Given the description of an element on the screen output the (x, y) to click on. 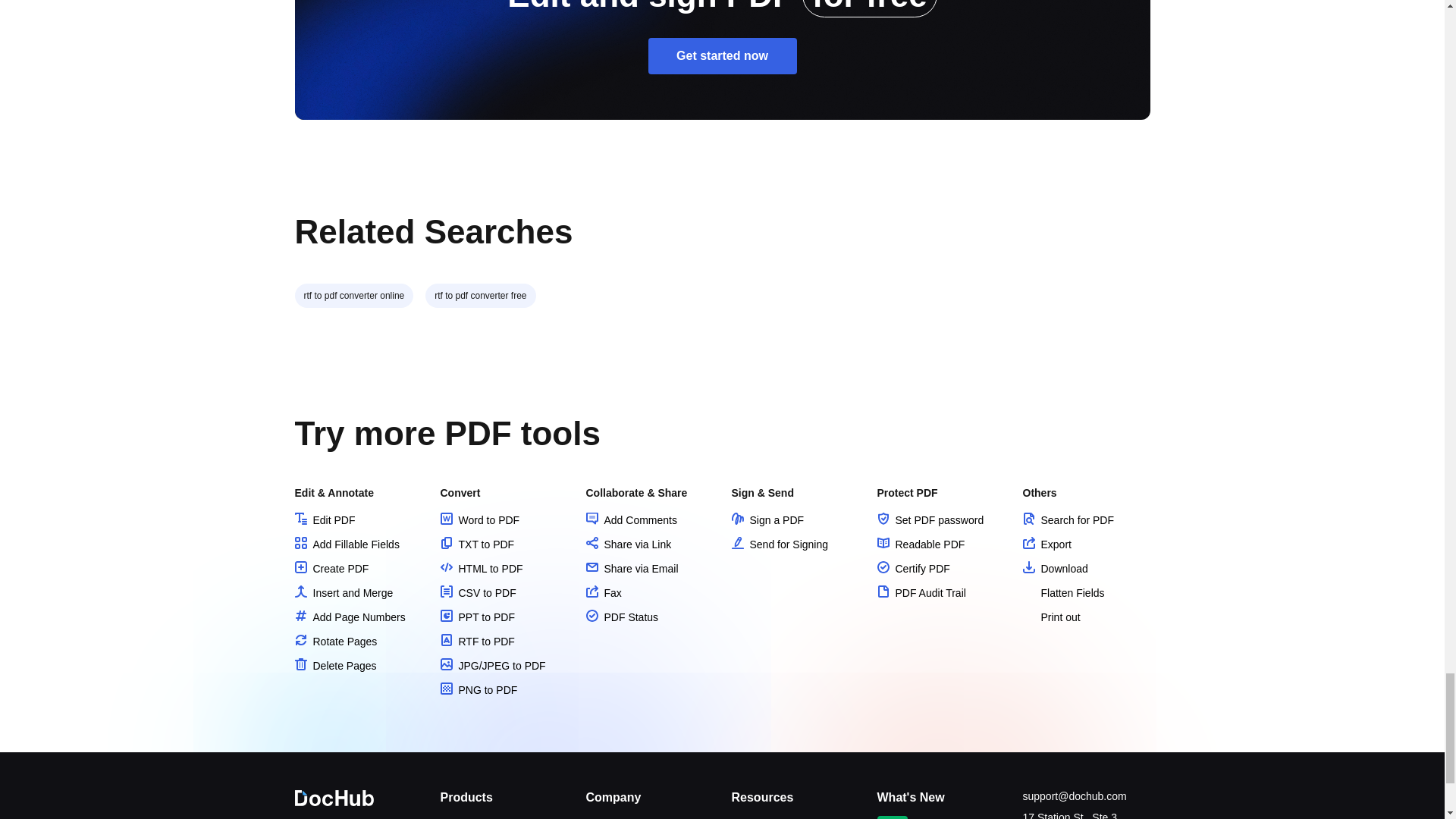
Fax (603, 592)
RTF to PDF (476, 641)
Get started now (721, 55)
Delete Pages (334, 665)
Share via Email (631, 568)
Word to PDF (479, 520)
Edit PDF (324, 520)
Create PDF (331, 568)
CSV to PDF (477, 592)
Add Comments (631, 520)
